Given the description of an element on the screen output the (x, y) to click on. 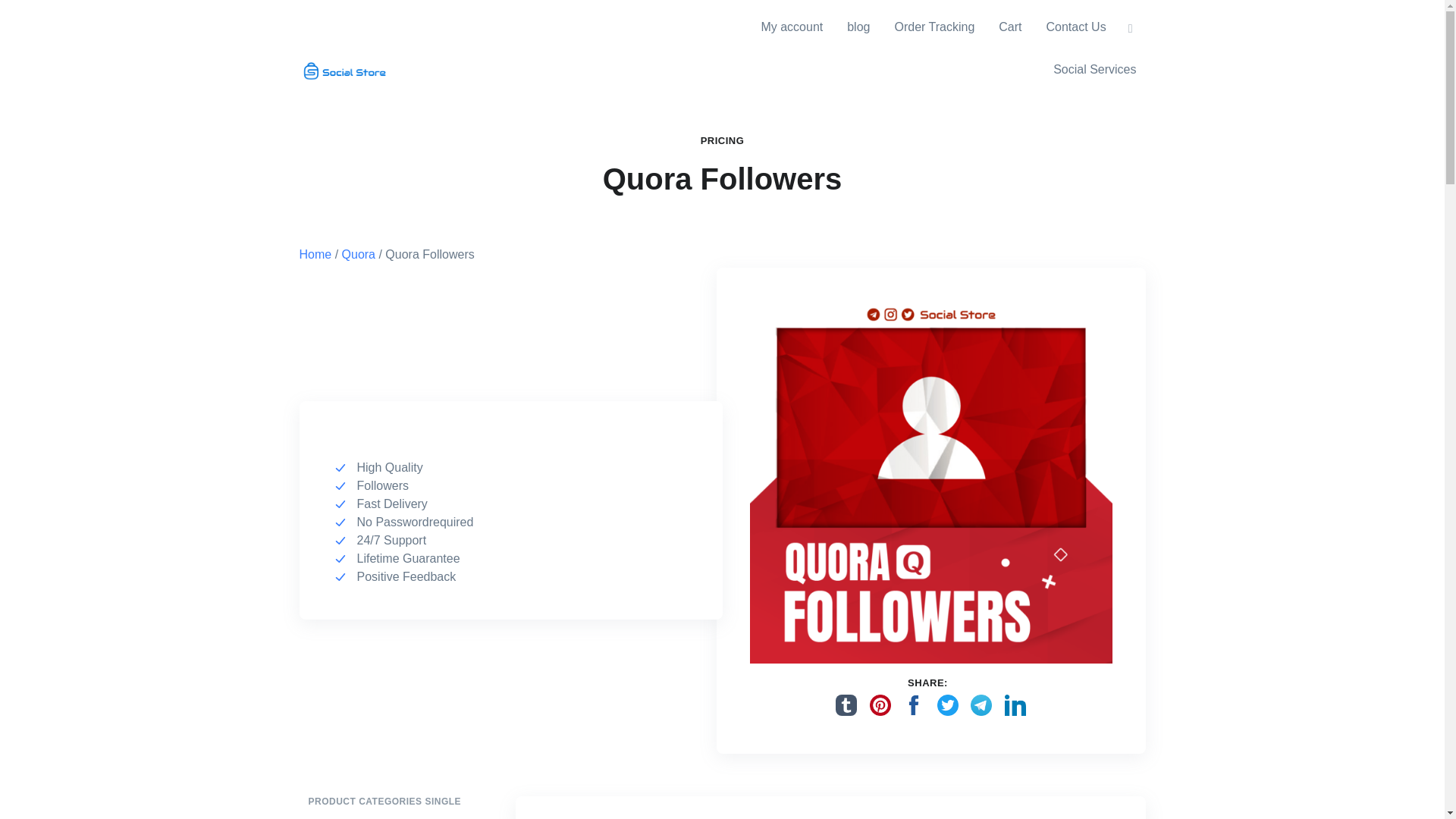
Home (314, 253)
Contact Us (1075, 26)
Quora Followers (930, 481)
Social Services (1093, 69)
My account (791, 26)
Cart (1010, 26)
Order Tracking (934, 26)
Audiomack (333, 816)
Quora (358, 253)
blog (858, 26)
